Given the description of an element on the screen output the (x, y) to click on. 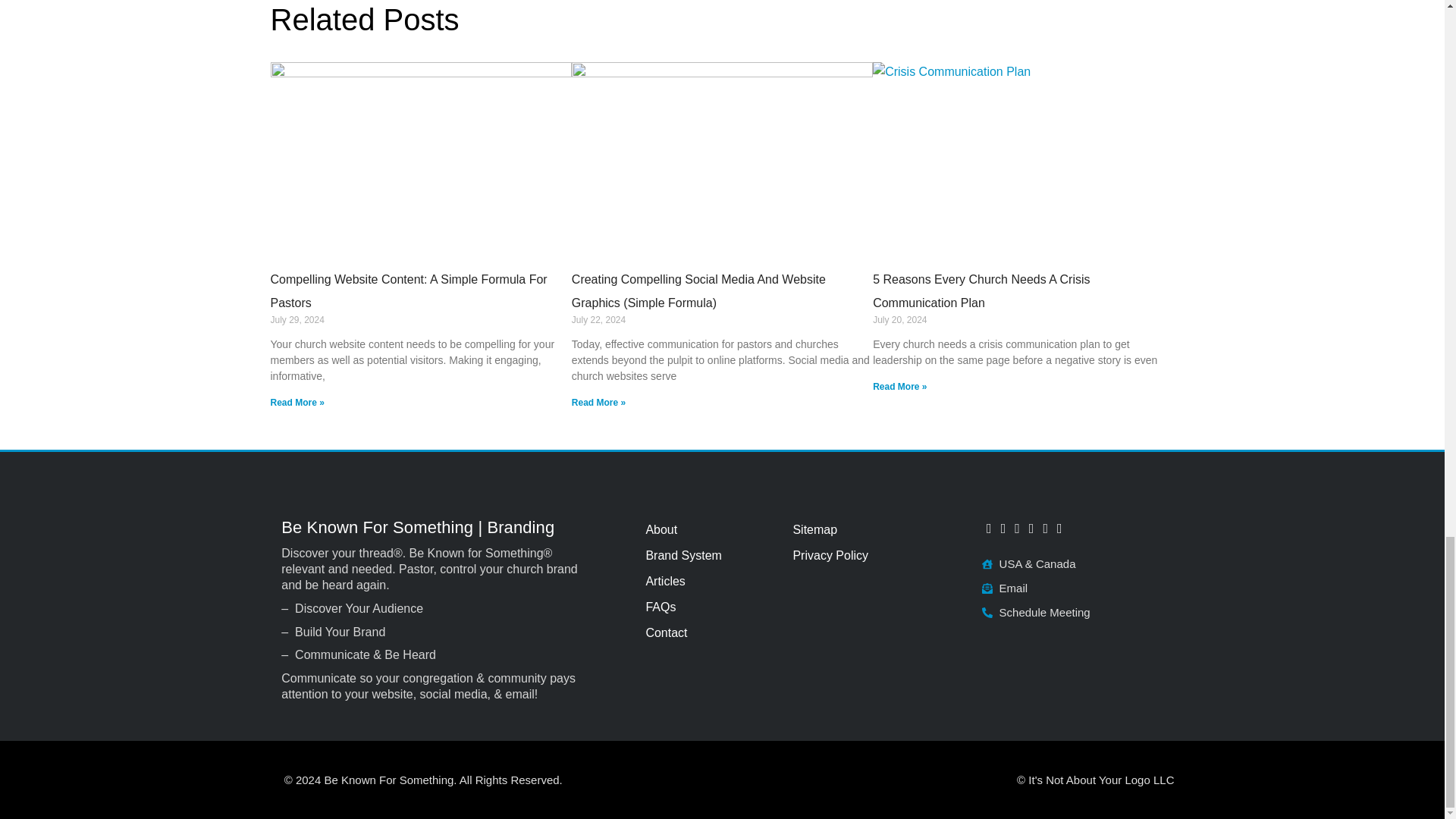
About (709, 529)
5 Reasons Every Church Needs A Crisis Communication Plan (980, 290)
Articles (709, 581)
Compelling Website Content: A Simple Formula For Pastors (408, 290)
Contact (709, 632)
FAQs (709, 606)
Brand System (709, 555)
